Given the description of an element on the screen output the (x, y) to click on. 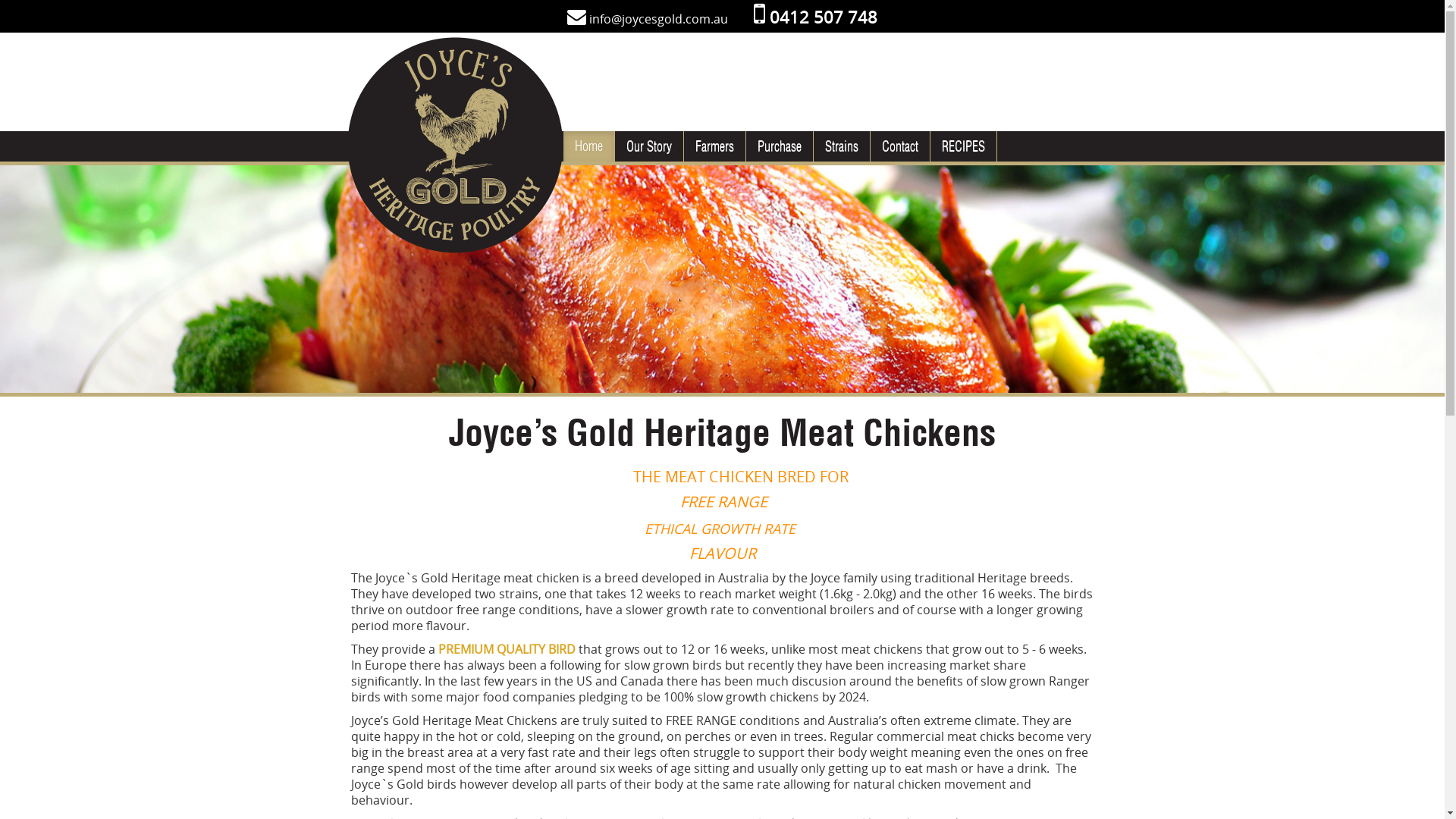
Strains Element type: text (840, 146)
RECIPES Element type: text (962, 146)
Purchase Element type: text (779, 146)
info@joycesgold.com.au Element type: text (658, 18)
 0412 507 748 Element type: text (815, 16)
Our Story Element type: text (648, 146)
Home Element type: text (587, 146)
Farmers Element type: text (714, 146)
Contact Element type: text (899, 146)
